Given the description of an element on the screen output the (x, y) to click on. 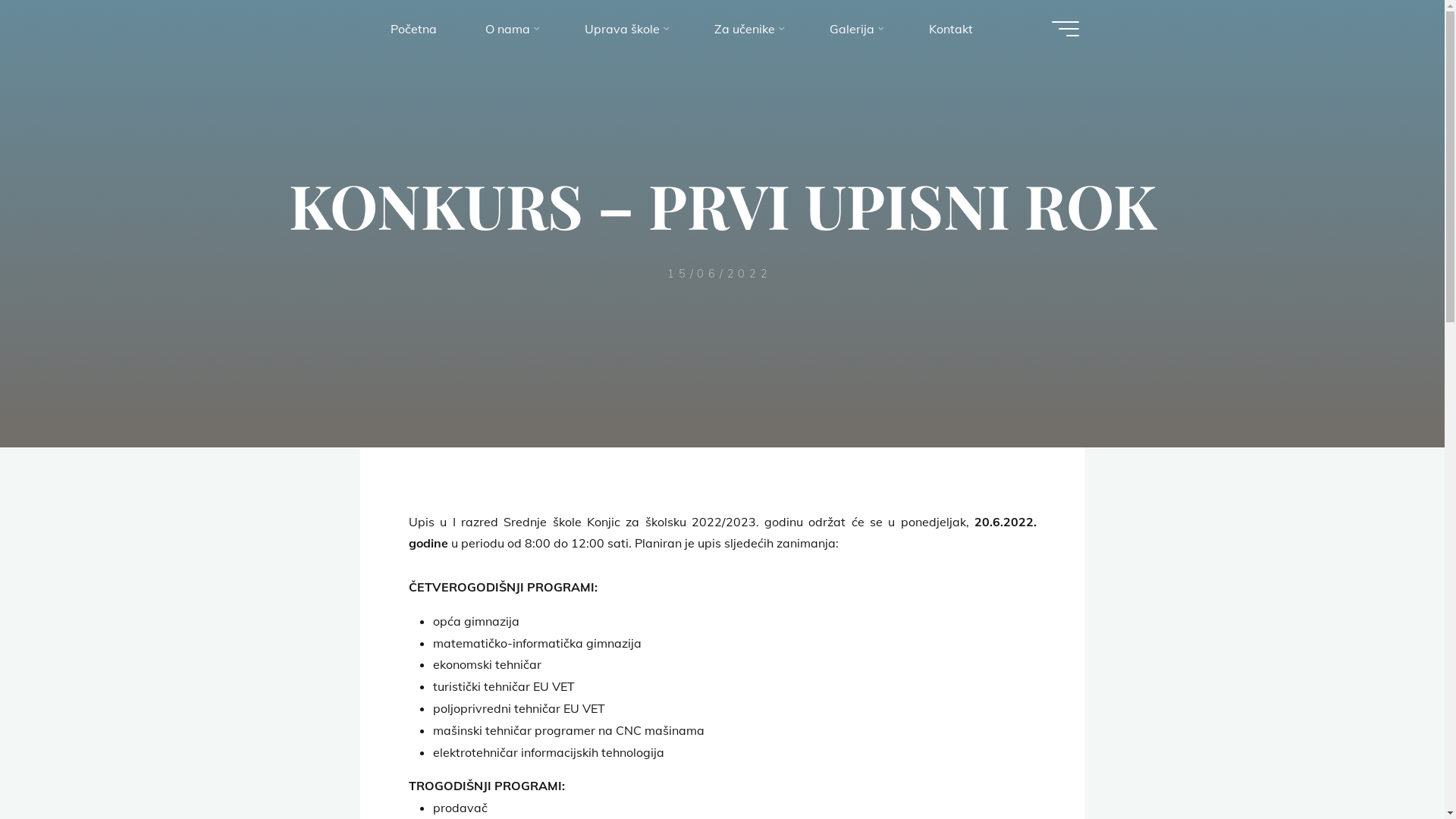
Read more Element type: hover (721, 354)
Galerija Element type: text (854, 28)
O nama Element type: text (510, 28)
Kontakt Element type: text (949, 28)
